Given the description of an element on the screen output the (x, y) to click on. 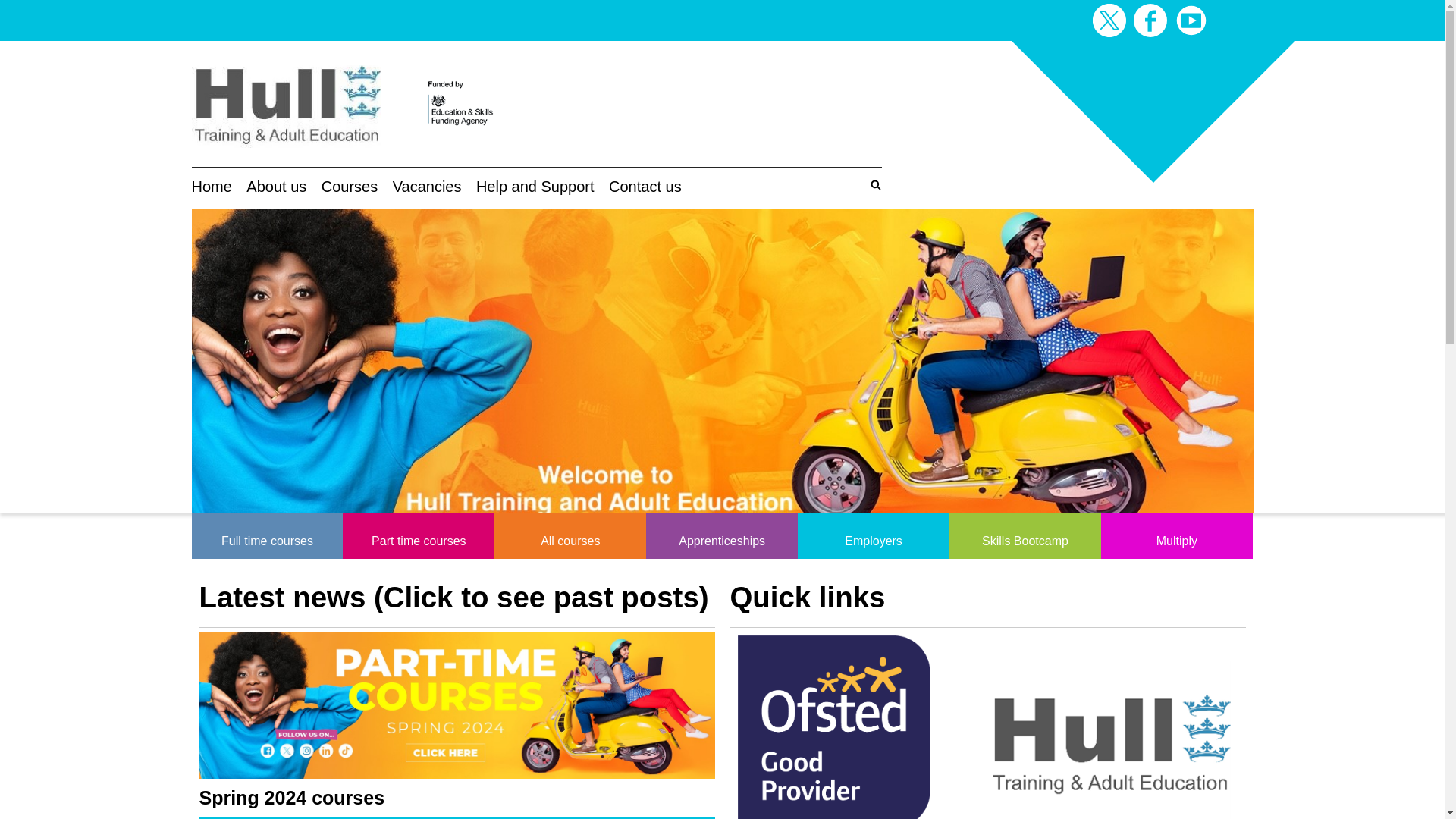
About us (275, 186)
Courses (349, 186)
Help and Support (535, 186)
Contact us (644, 186)
Home (210, 186)
Vacancies (427, 186)
